Given the description of an element on the screen output the (x, y) to click on. 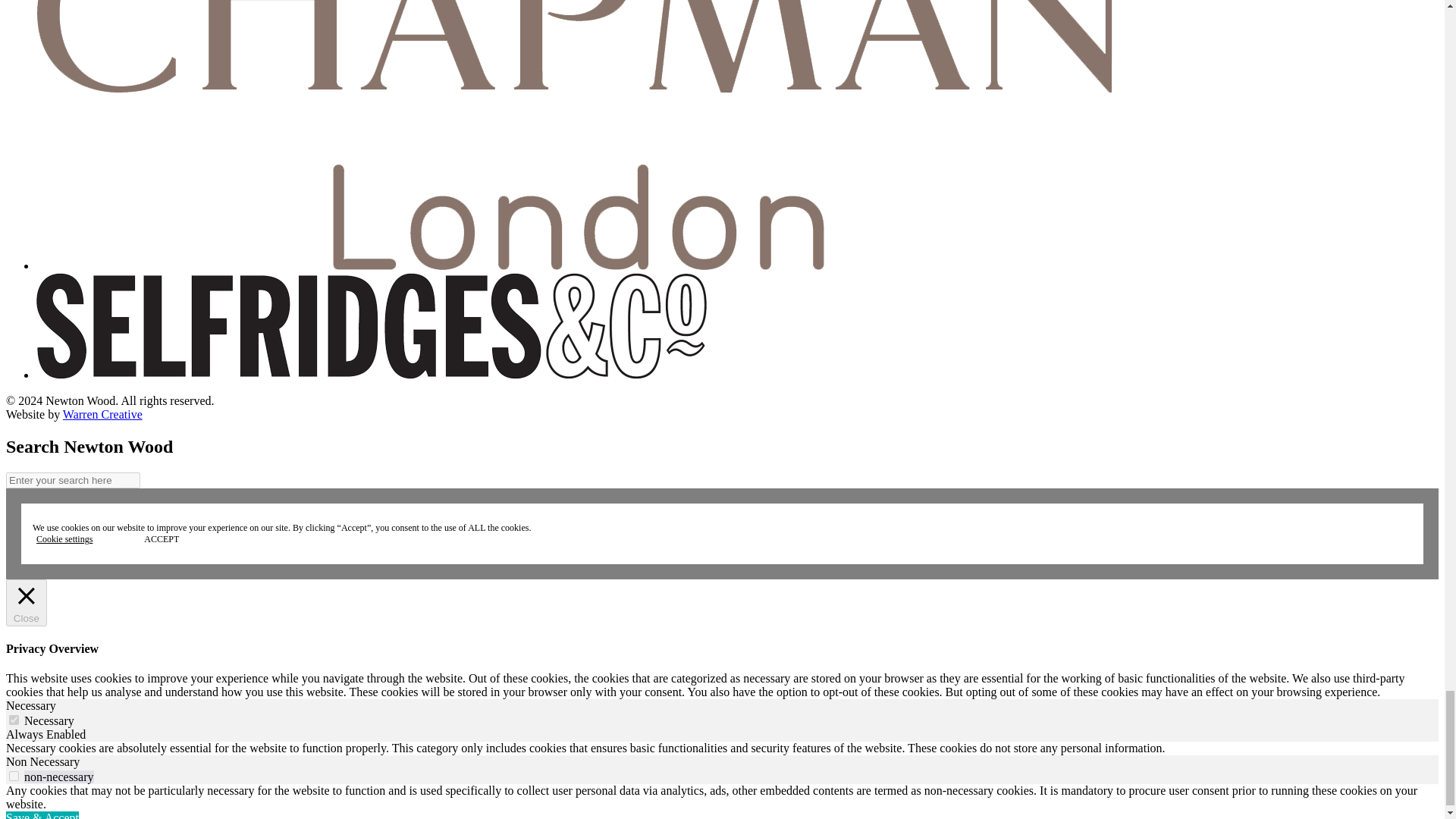
on (13, 719)
on (13, 776)
